Given the description of an element on the screen output the (x, y) to click on. 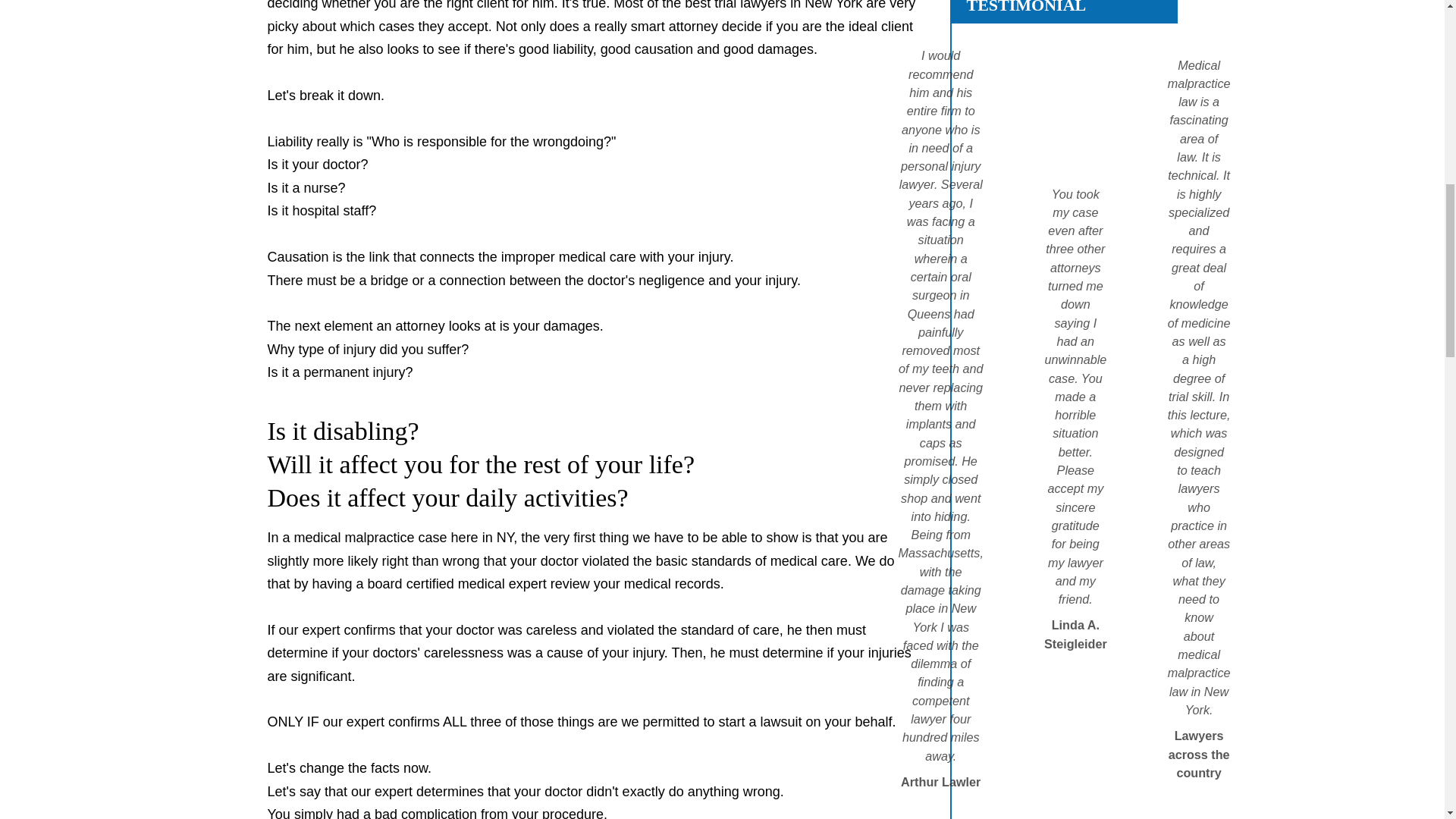
TESTIMONIAL (1026, 7)
